Given the description of an element on the screen output the (x, y) to click on. 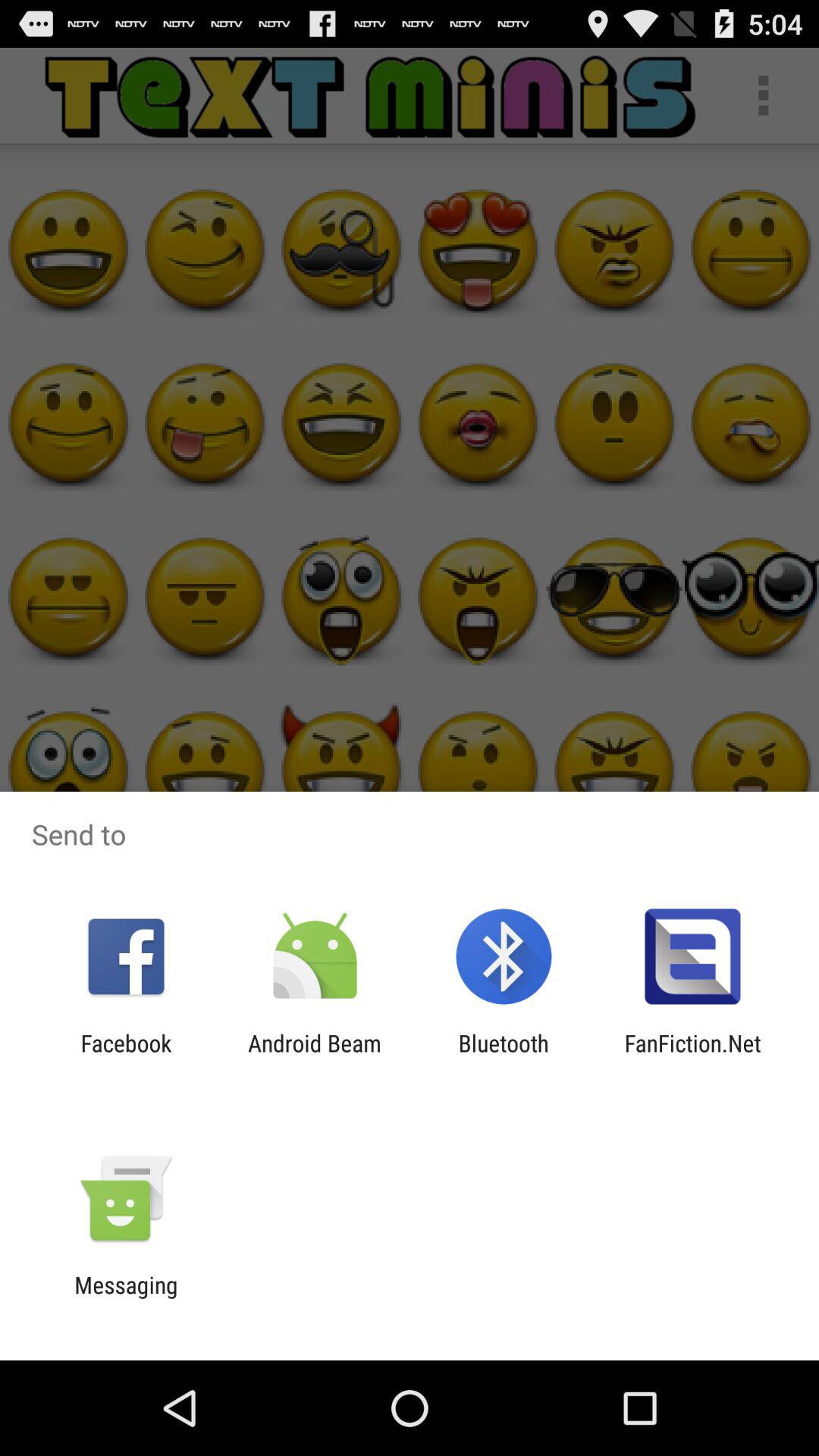
press the icon at the bottom right corner (692, 1056)
